Given the description of an element on the screen output the (x, y) to click on. 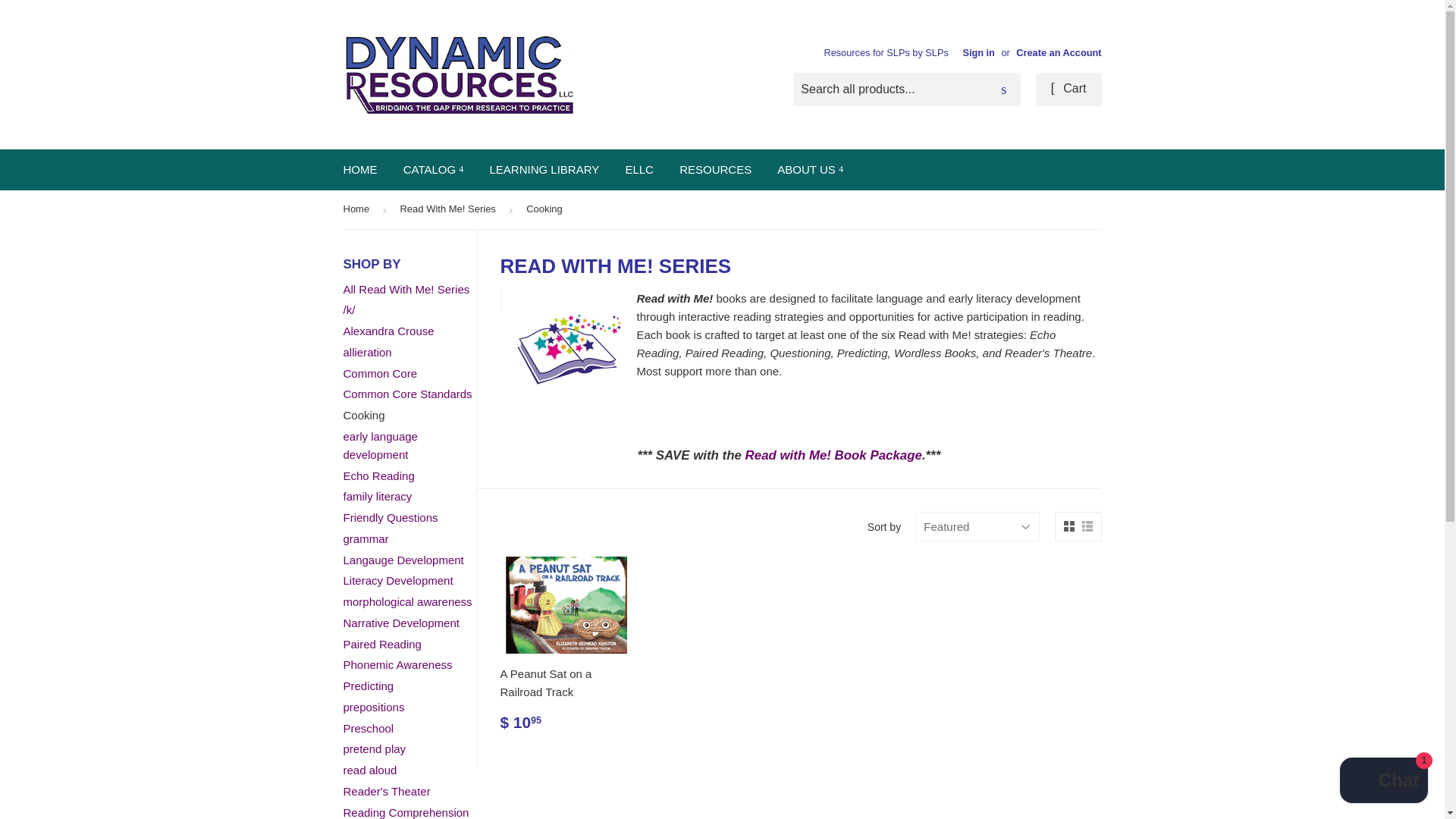
LEARNING LIBRARY (543, 169)
HOME (359, 169)
Show products matching tag Friendly Questions (390, 517)
Search (1003, 90)
Create an Account (1058, 52)
CATALOG (433, 169)
RESOURCES (715, 169)
Show products matching tag Echo Reading (377, 475)
Sign in (978, 52)
Show products matching tag morphological awareness (406, 601)
Show products matching tag Alexandra Crouse (387, 330)
ELLC (638, 169)
Show products matching tag Common Core Standards (406, 393)
Show products matching tag Common Core (379, 373)
Show products matching tag grammar (365, 538)
